Given the description of an element on the screen output the (x, y) to click on. 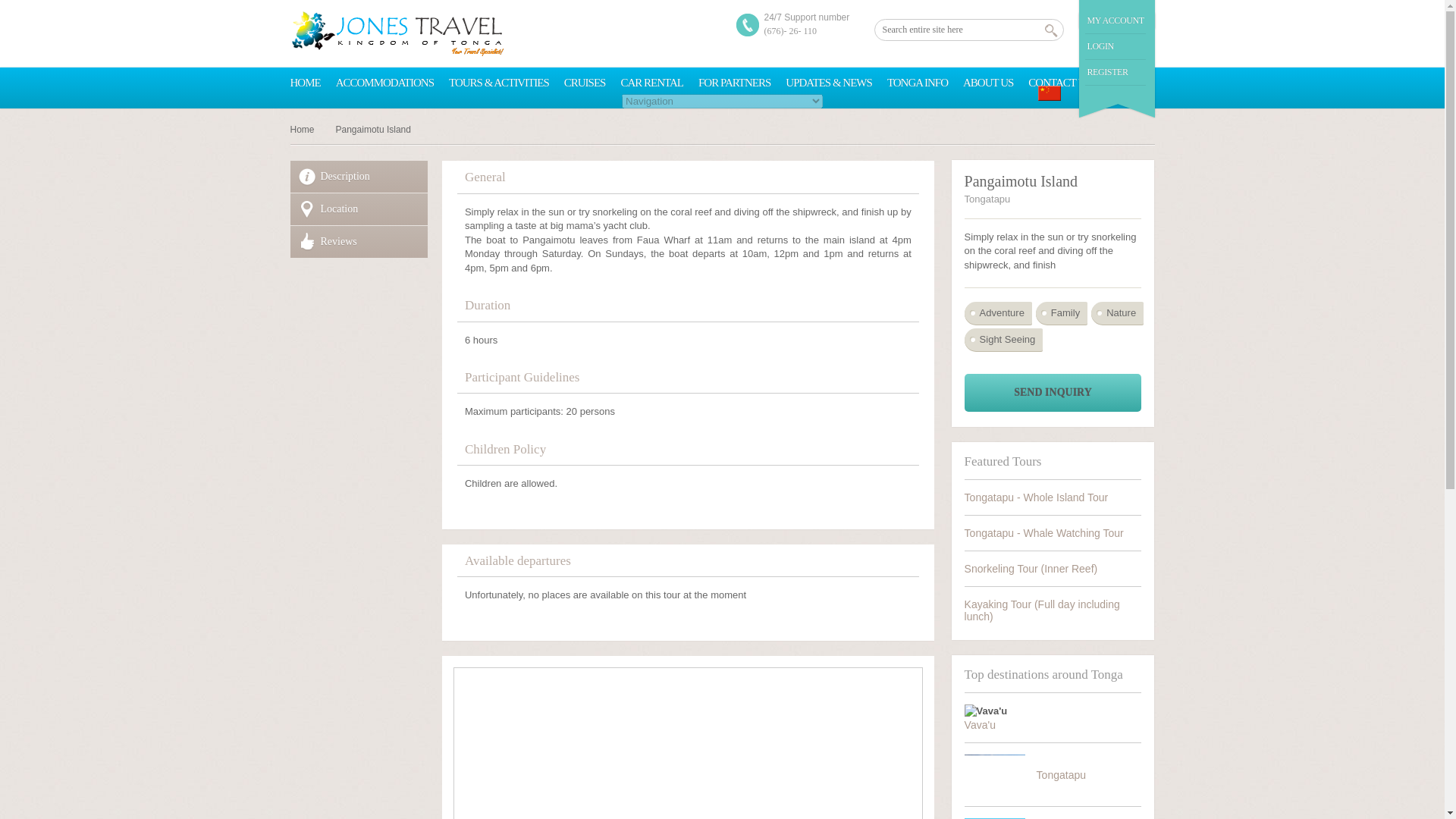
Home (306, 129)
LOGIN (1100, 45)
Home (306, 129)
ABOUT US (987, 82)
CONTACT US (1058, 82)
CAR RENTAL (651, 82)
MY ACCOUNT (1115, 20)
REGISTER (1107, 71)
FOR PARTNERS (734, 82)
Reviews (358, 241)
